Given the description of an element on the screen output the (x, y) to click on. 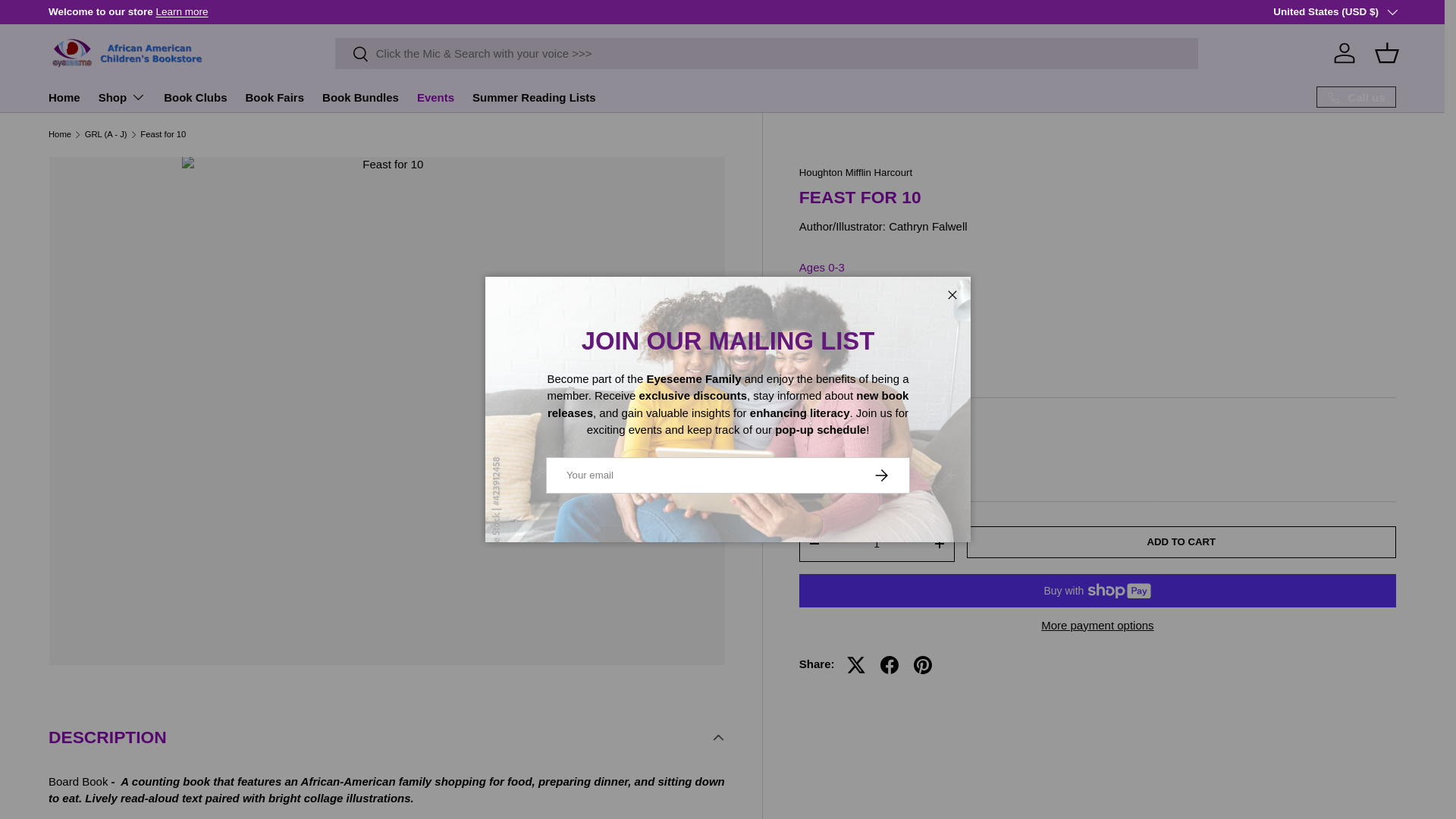
Book Fairs (275, 97)
Tweet on X (855, 664)
More payment options (1097, 625)
Log in (1344, 52)
Call us (1356, 96)
Learn more (1406, 11)
Share on Facebook (888, 664)
SKIP TO CONTENT (68, 21)
Search (351, 54)
Feast for 10 (162, 134)
Home (59, 134)
Learn more (181, 11)
- (813, 543)
Houghton Mifflin Harcourt (855, 172)
ADD TO CART (1181, 541)
